Given the description of an element on the screen output the (x, y) to click on. 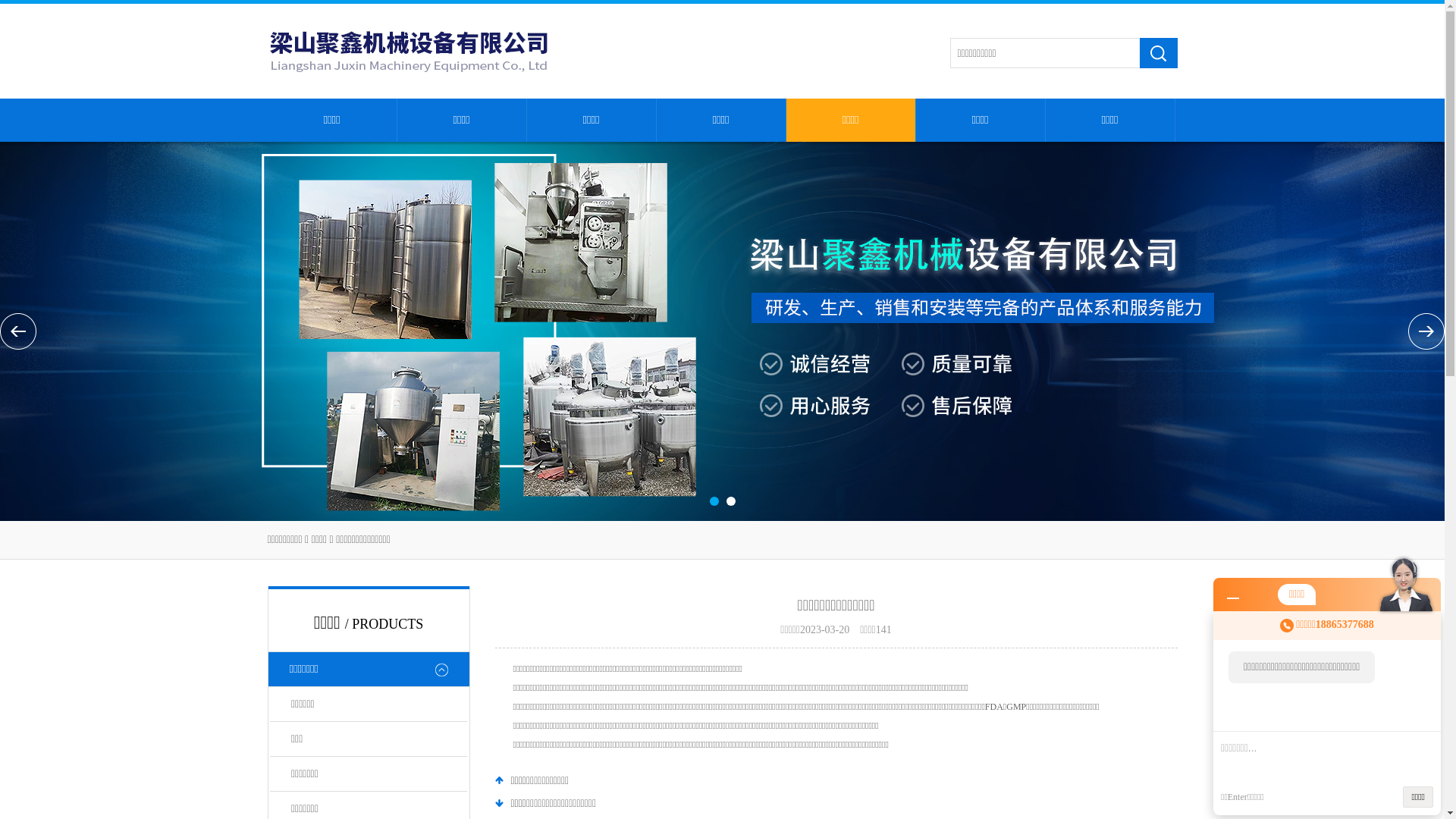
  Element type: text (1157, 52)
